Given the description of an element on the screen output the (x, y) to click on. 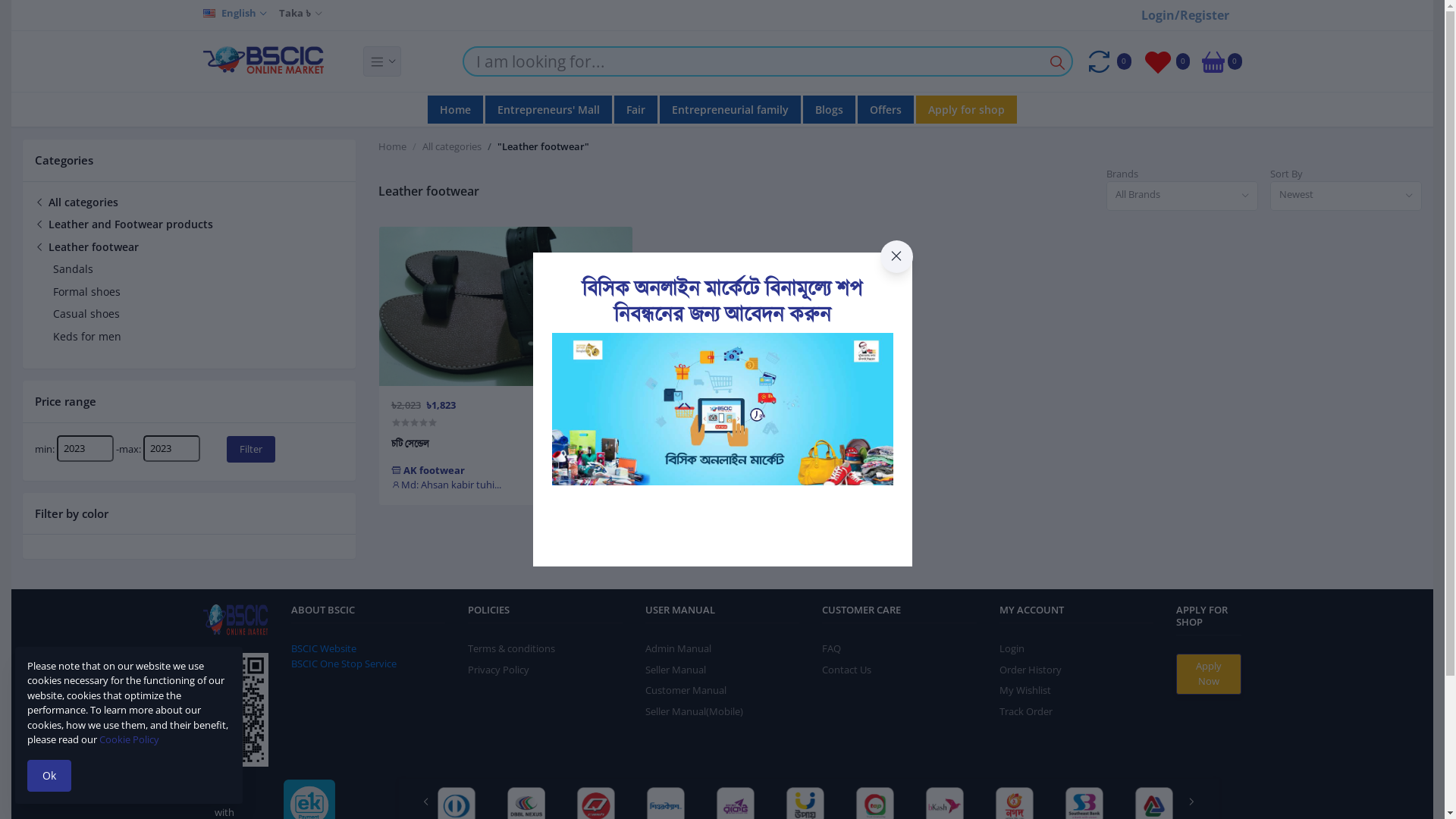
BSCIC Website Element type: text (323, 648)
Leather and Footwear products Element type: text (123, 223)
All categories Element type: text (76, 201)
Leather footwear Element type: text (86, 246)
Entrepreneurial family Element type: text (729, 109)
Seller Manual(Mobile) Element type: text (694, 710)
"Leather footwear" Element type: text (543, 146)
0 Element type: text (1107, 61)
Casual shoes Element type: text (86, 313)
Keds for men Element type: text (87, 336)
Filter Element type: text (250, 449)
AK footwear Element type: text (427, 469)
Formal shoes Element type: text (86, 290)
Entrepreneurs' Mall Element type: text (548, 109)
FAQ Element type: text (831, 648)
Newest Element type: text (1345, 195)
All categories Element type: text (451, 146)
Order History Element type: text (1030, 669)
Apply Now Element type: text (1209, 673)
Track Order Element type: text (1025, 710)
Login Element type: text (1011, 648)
Blogs Element type: text (829, 109)
Contact Us Element type: text (846, 669)
Home Element type: text (455, 109)
Login/Register Element type: text (1185, 15)
Admin Manual Element type: text (678, 648)
Cookie Policy Element type: text (129, 739)
English Element type: text (235, 13)
Home Element type: text (392, 146)
Offers Element type: text (885, 109)
Md: Ahsan kabir tuhi... Element type: text (446, 484)
My Wishlist Element type: text (1025, 689)
Apply for shop Element type: text (966, 109)
0 Element type: text (1221, 61)
Fair Element type: text (635, 109)
Privacy Policy Element type: text (498, 669)
0 Element type: text (1166, 61)
All Brands Element type: text (1182, 195)
Customer Manual Element type: text (685, 689)
Seller Manual Element type: text (675, 669)
Terms & conditions Element type: text (511, 648)
Ok Element type: text (49, 775)
Sandals Element type: text (73, 268)
BSCIC One Stop Service Element type: text (343, 663)
